Given the description of an element on the screen output the (x, y) to click on. 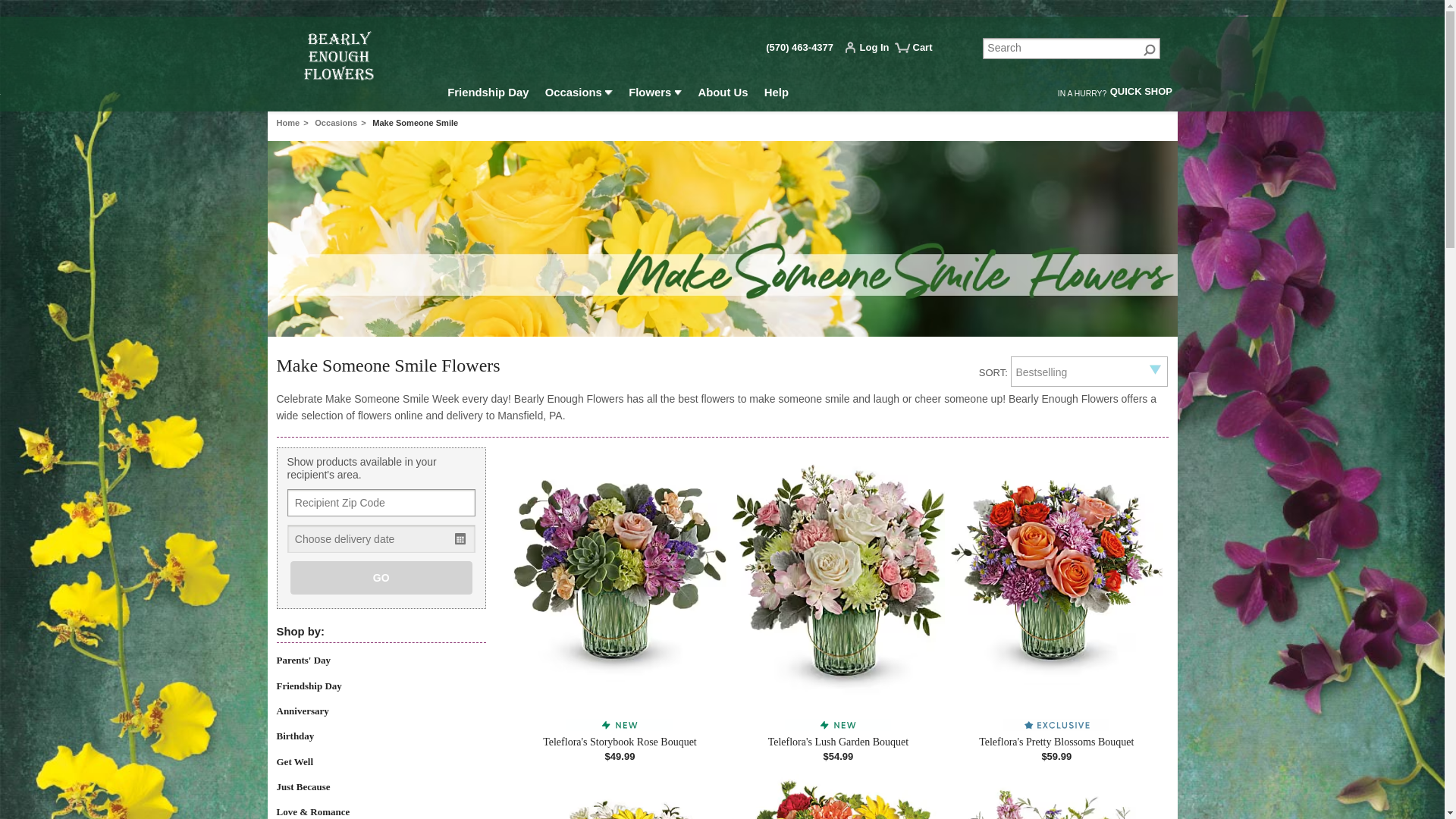
Quick Shop (1140, 93)
Cart (919, 53)
Flowers (655, 94)
GO (380, 577)
Friendship Day (488, 94)
Occasions (577, 94)
Sort By (1088, 371)
Log In (870, 49)
Go (1149, 48)
log In (870, 49)
Search (1071, 47)
